Given the description of an element on the screen output the (x, y) to click on. 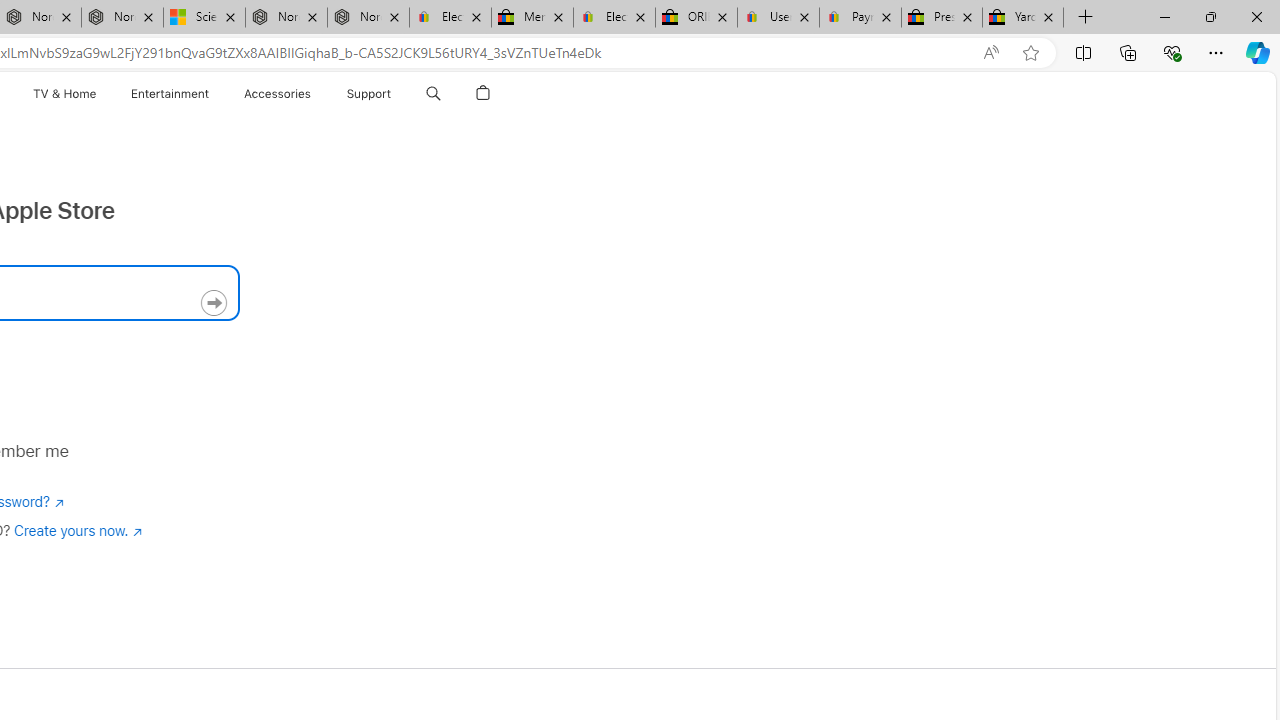
Nordace - FAQ (368, 17)
TV and Home (65, 93)
Continue (213, 303)
AutomationID: globalnav-bag (482, 93)
Class: globalnav-item globalnav-search (433, 93)
Support (368, 93)
